Given the description of an element on the screen output the (x, y) to click on. 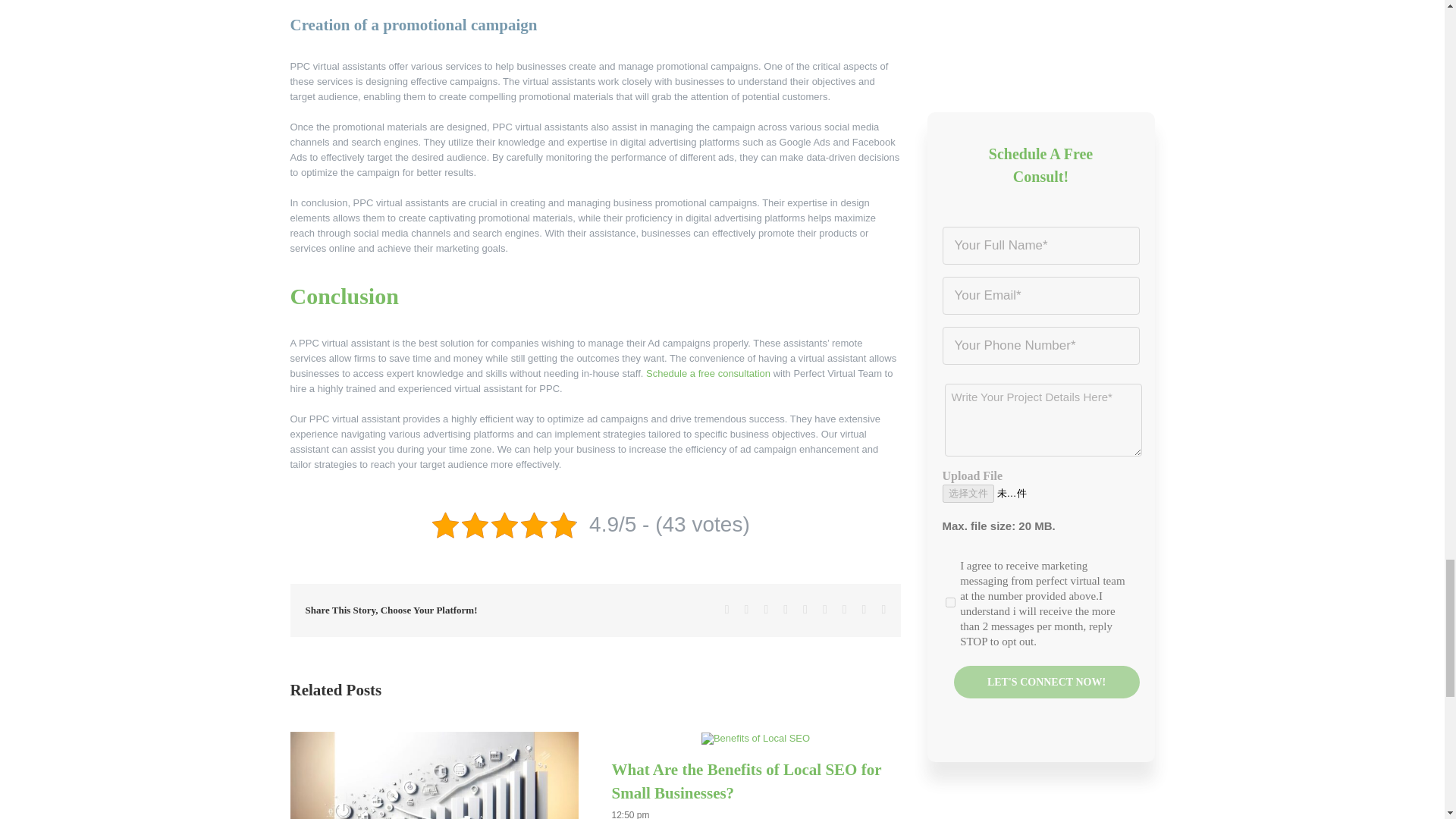
Benefits of Local SEO (755, 738)
What Are the Benefits of Local SEO for Small Businesses? (745, 781)
Local SEO Efforts for Small Businesses (433, 775)
